Given the description of an element on the screen output the (x, y) to click on. 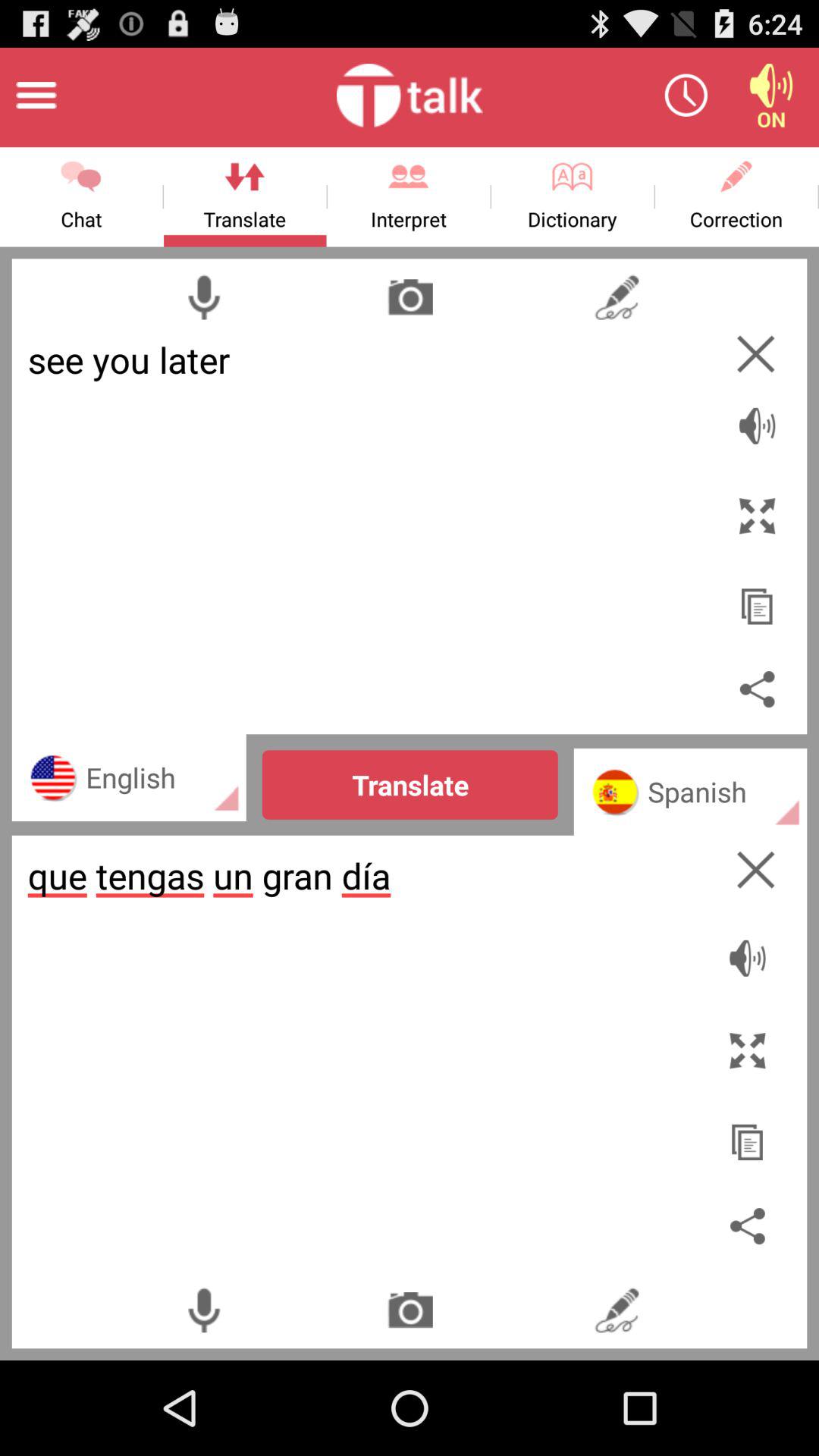
activate dictation (203, 1309)
